Given the description of an element on the screen output the (x, y) to click on. 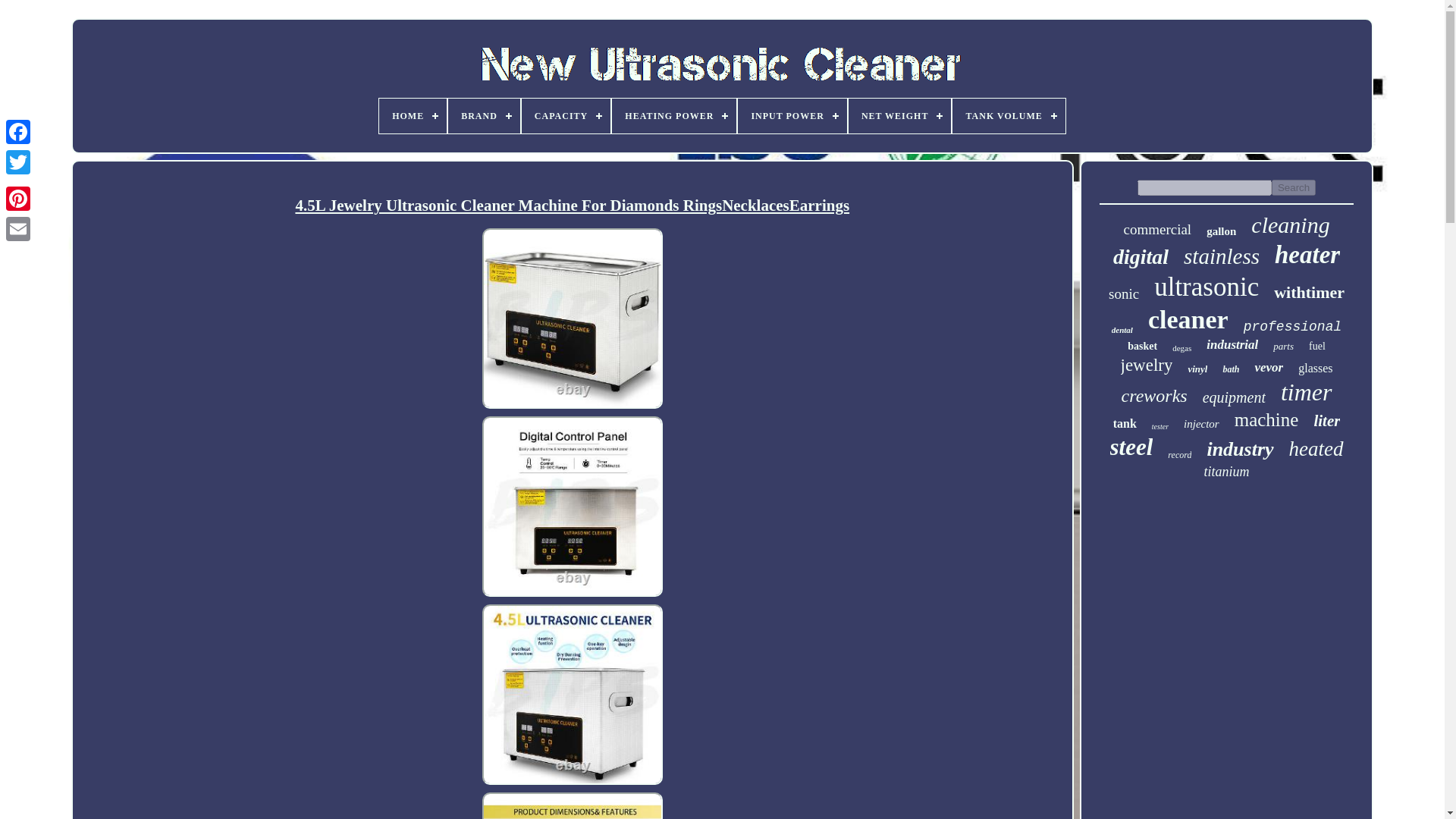
CAPACITY (565, 115)
HOME (412, 115)
BRAND (483, 115)
Search (1293, 187)
